Given the description of an element on the screen output the (x, y) to click on. 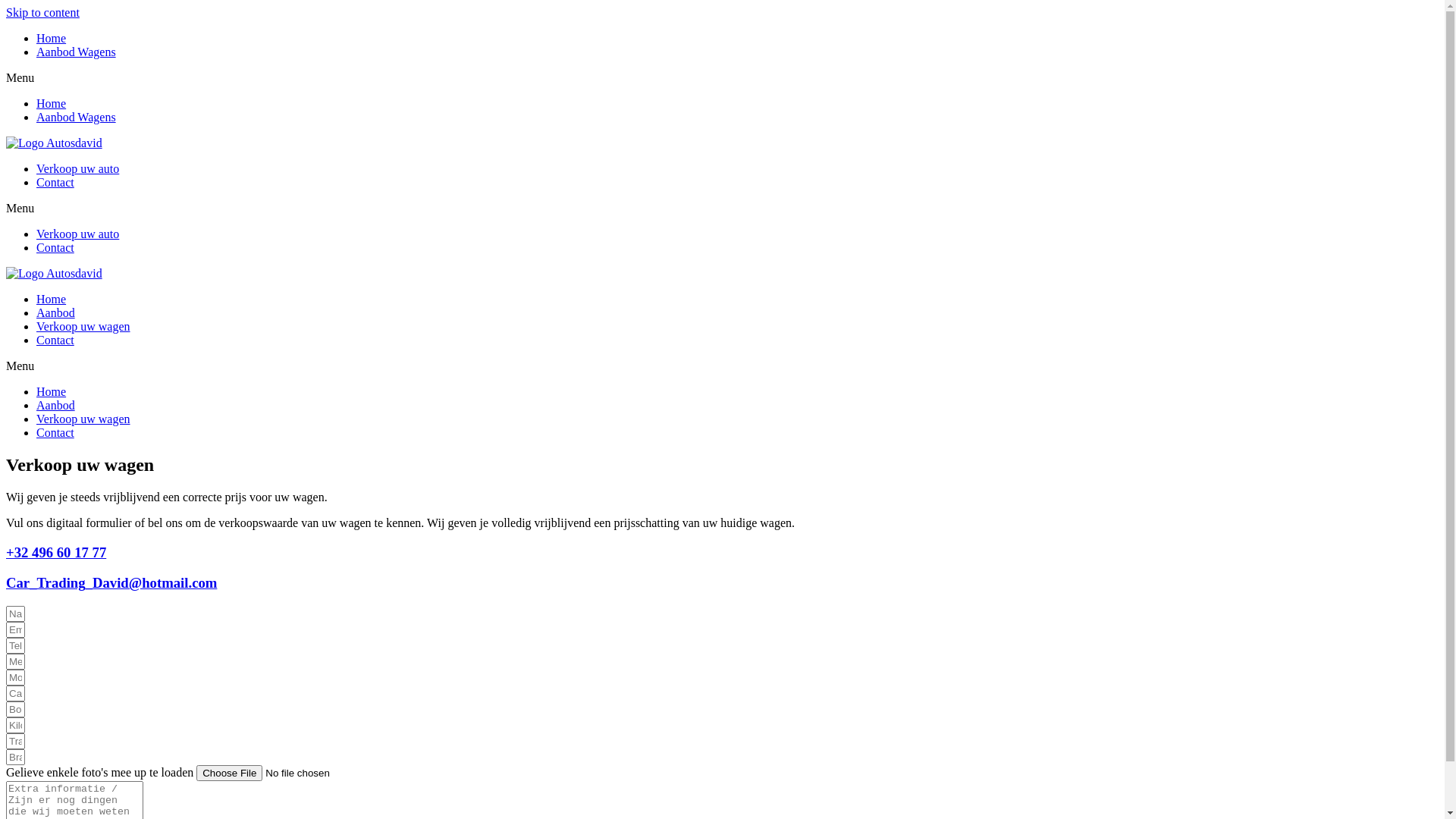
Verkoop uw auto Element type: text (77, 168)
Verkoop uw wagen Element type: text (83, 326)
Home Element type: text (50, 391)
Aanbod Wagens Element type: text (76, 51)
Home Element type: text (50, 103)
Home Element type: text (50, 37)
Verkoop uw wagen Element type: text (83, 418)
Contact Element type: text (55, 181)
Contact Element type: text (55, 247)
Aanbod Element type: text (55, 312)
Aanbod Element type: text (55, 404)
Contact Element type: text (55, 339)
Verkoop uw auto Element type: text (77, 233)
Aanbod Wagens Element type: text (76, 116)
Contact Element type: text (55, 432)
+32 496 60 17 77 Element type: text (56, 552)
Home Element type: text (50, 298)
Car_Trading_David@hotmail.com Element type: text (111, 582)
Skip to content Element type: text (42, 12)
